Given the description of an element on the screen output the (x, y) to click on. 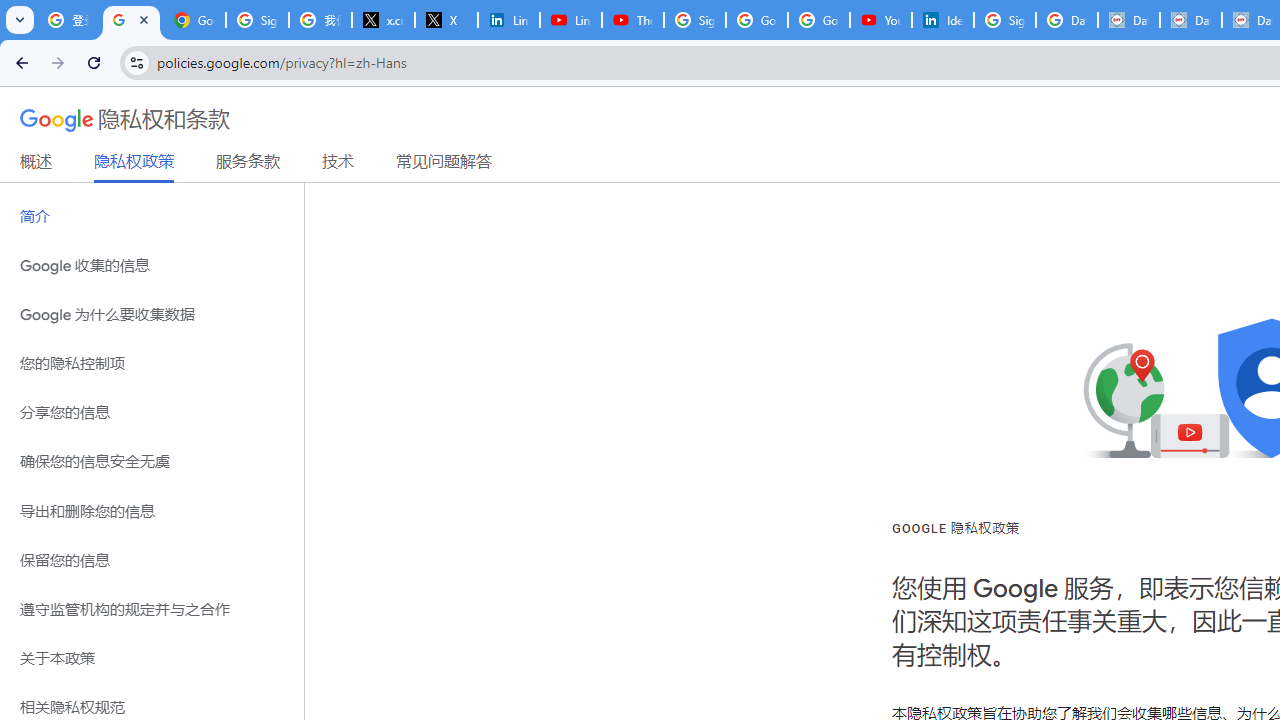
Data Privacy Framework (1190, 20)
Sign in - Google Accounts (694, 20)
X (445, 20)
Sign in - Google Accounts (1004, 20)
